Given the description of an element on the screen output the (x, y) to click on. 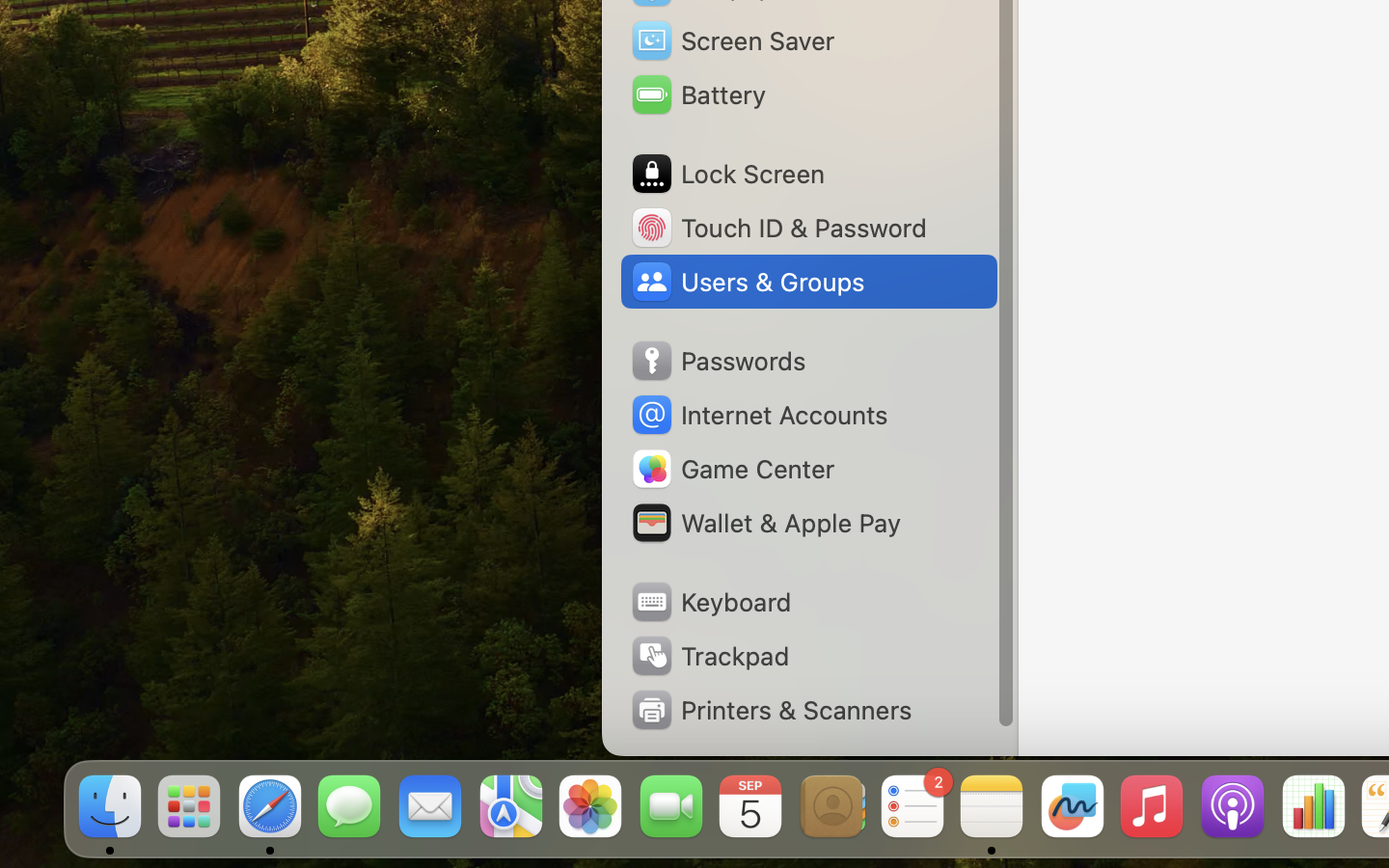
Trackpad Element type: AXStaticText (708, 655)
Internet Accounts Element type: AXStaticText (757, 414)
Printers & Scanners Element type: AXStaticText (770, 709)
Lock Screen Element type: AXStaticText (726, 173)
Passwords Element type: AXStaticText (717, 360)
